Given the description of an element on the screen output the (x, y) to click on. 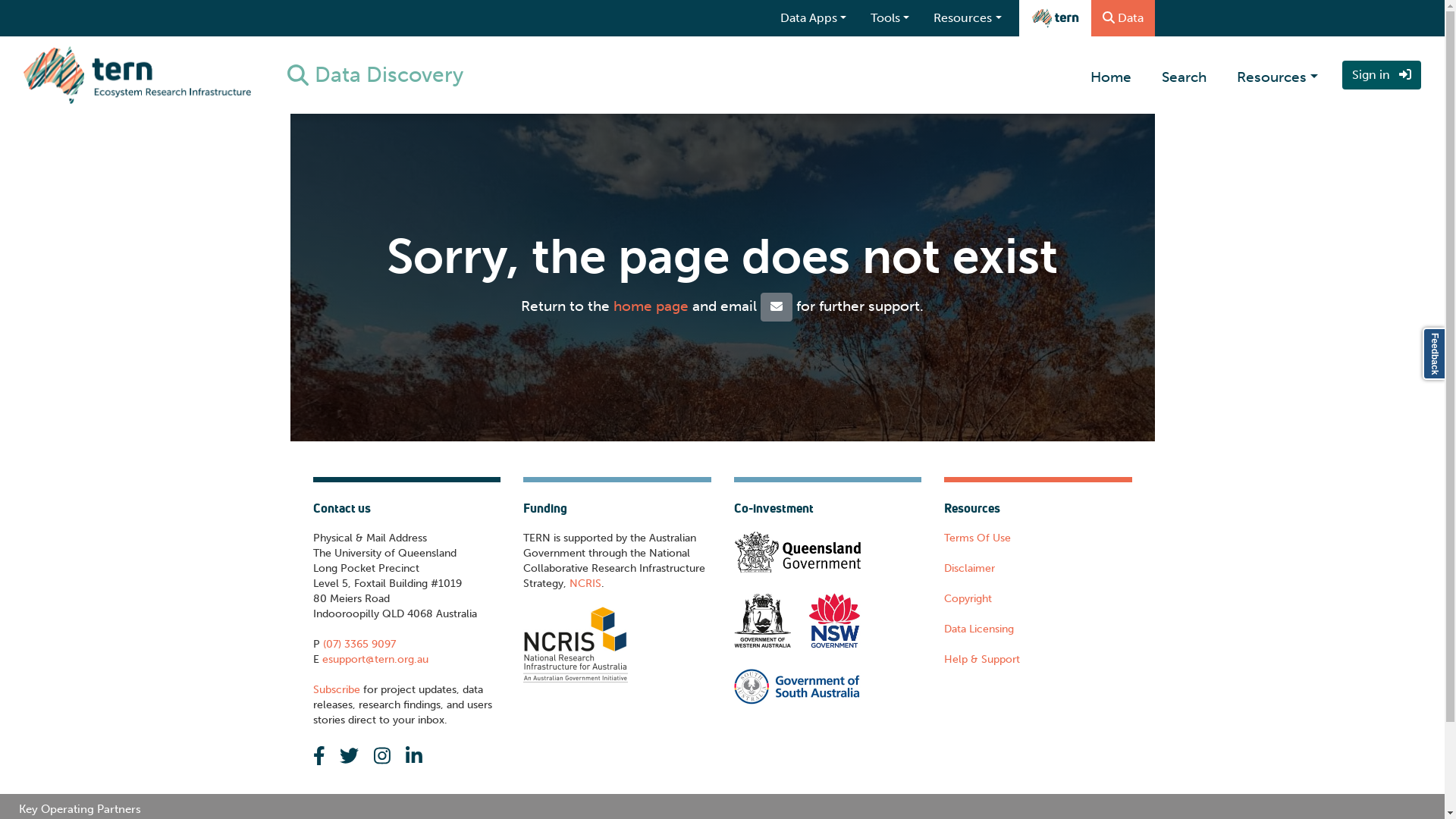
Help & Support Element type: text (981, 658)
Subscribe Element type: text (335, 689)
Copyright Element type: text (967, 598)
Resources Element type: text (1277, 74)
esupport@tern.org.au Element type: text (372, 658)
Disclaimer Element type: text (969, 567)
home page Element type: text (650, 304)
Search Element type: text (1183, 74)
Home Element type: text (1110, 74)
Data Licensing Element type: text (978, 628)
Sign in    Element type: text (1381, 74)
Terms Of Use Element type: text (977, 537)
Data Element type: text (1122, 18)
NCRIS Element type: text (585, 583)
(07) 3365 9097 Element type: text (357, 643)
